Given the description of an element on the screen output the (x, y) to click on. 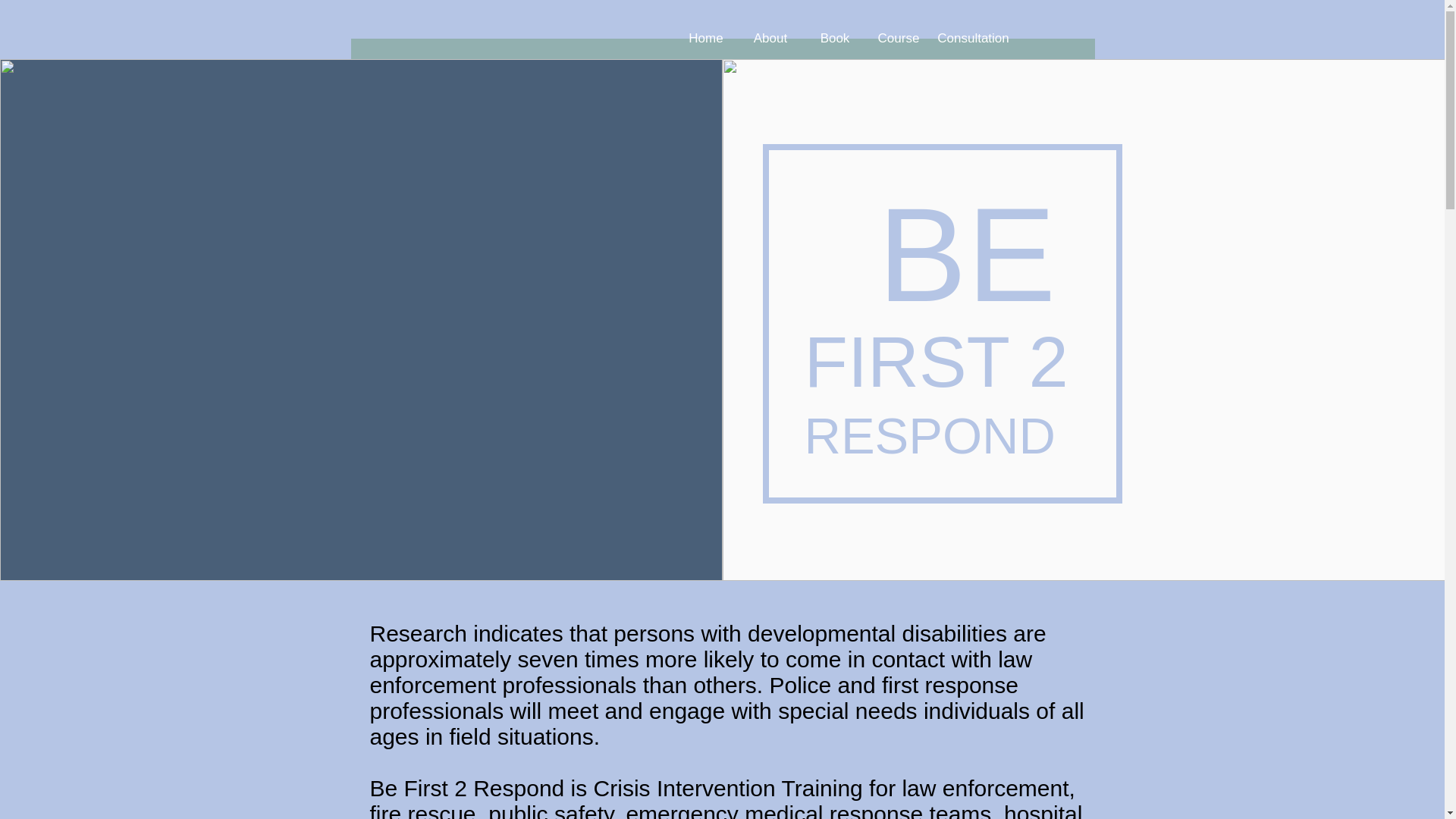
Book (834, 38)
Consultation (973, 38)
Home (705, 38)
Course (898, 38)
About (770, 38)
